Given the description of an element on the screen output the (x, y) to click on. 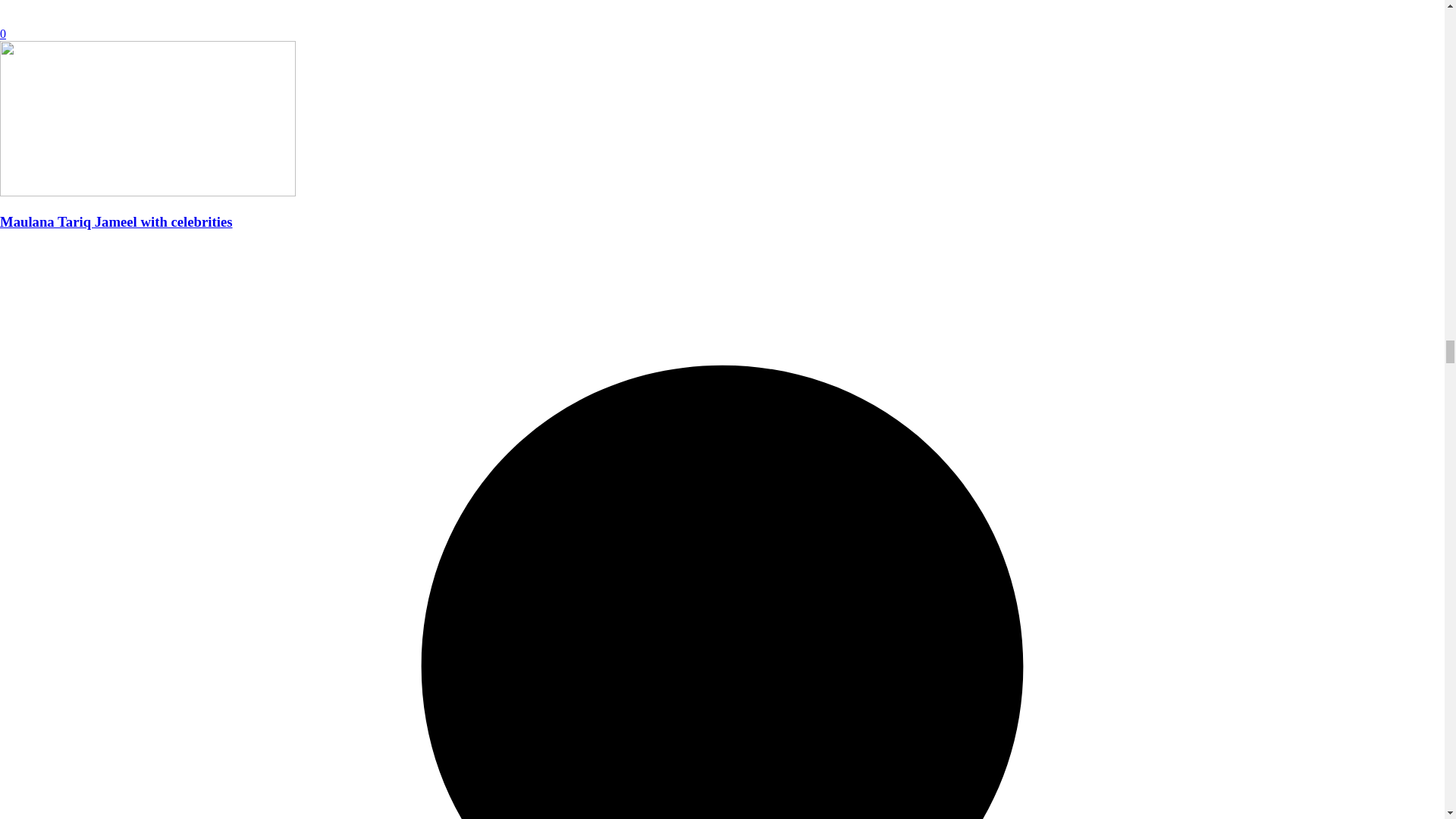
Maulana Tariq Jameel with celebrities (147, 192)
Maulana Tariq Jameel with celebrities (116, 221)
Maulana Tariq Jameel with celebrities (116, 221)
